Given the description of an element on the screen output the (x, y) to click on. 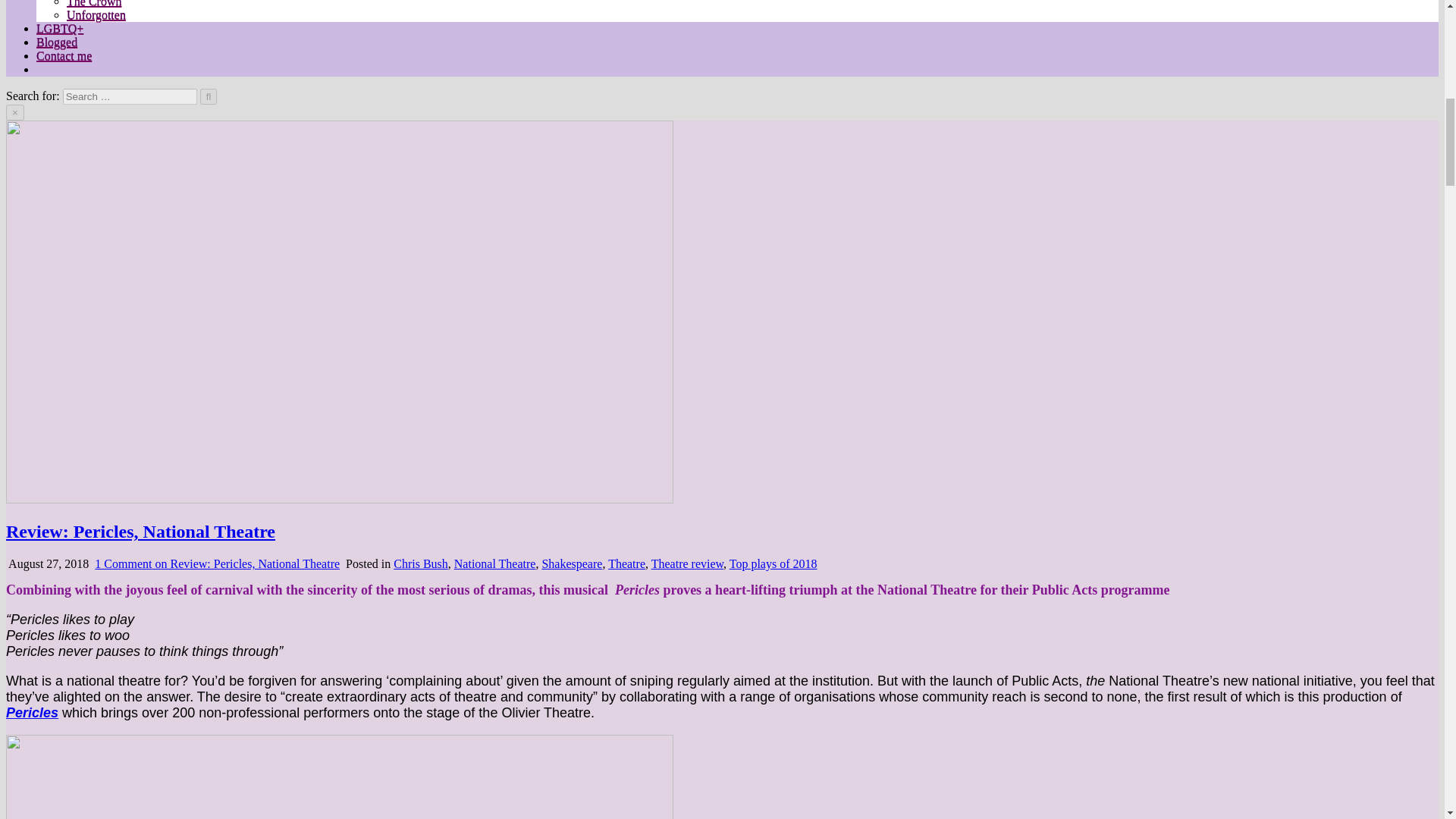
Permanent Link to Review: Pericles, National Theatre (338, 499)
Close Search (14, 112)
